Given the description of an element on the screen output the (x, y) to click on. 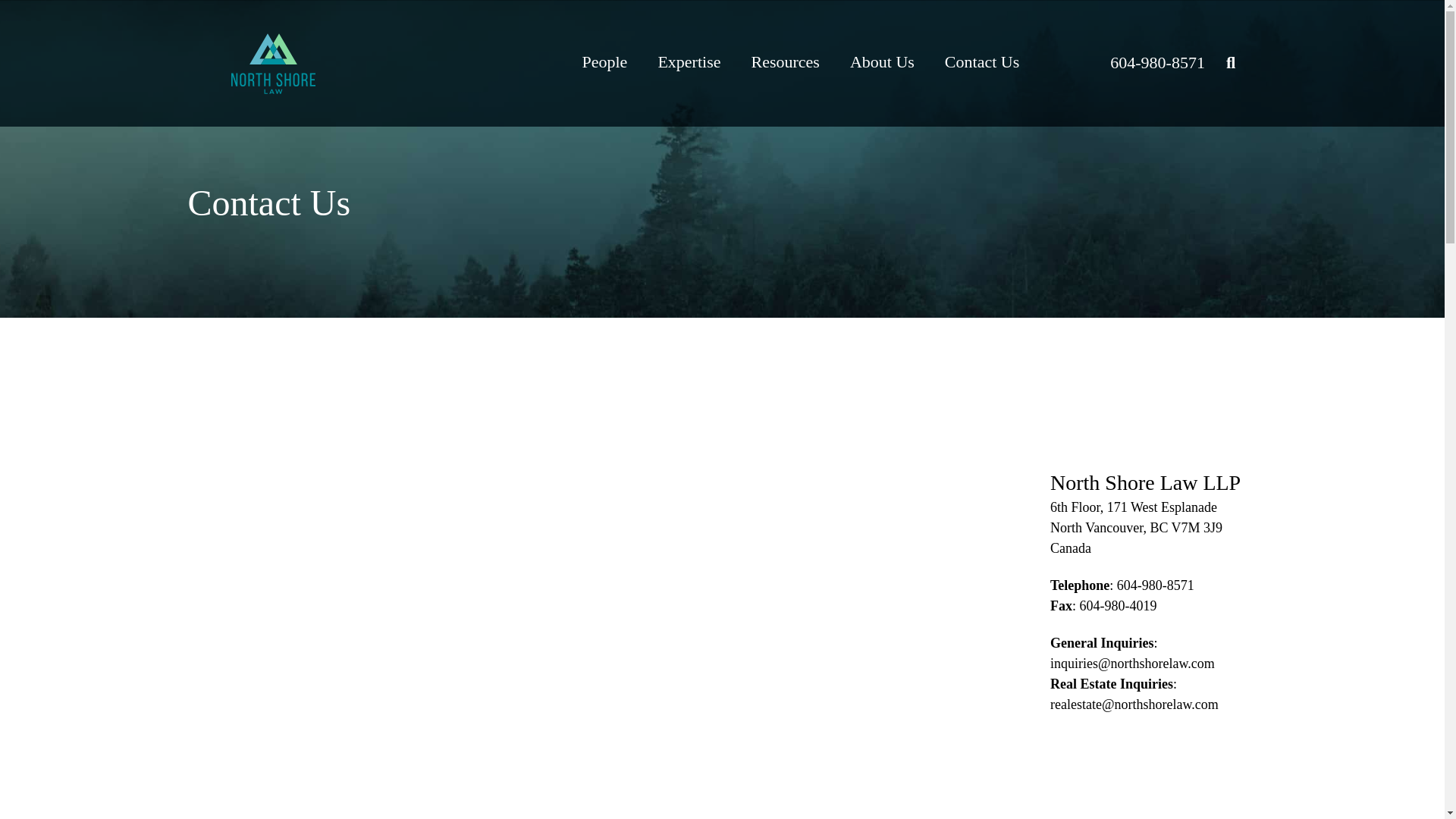
Expertise (688, 61)
Contact Us (981, 61)
Resources (784, 61)
People (605, 61)
About Us (882, 61)
